Given the description of an element on the screen output the (x, y) to click on. 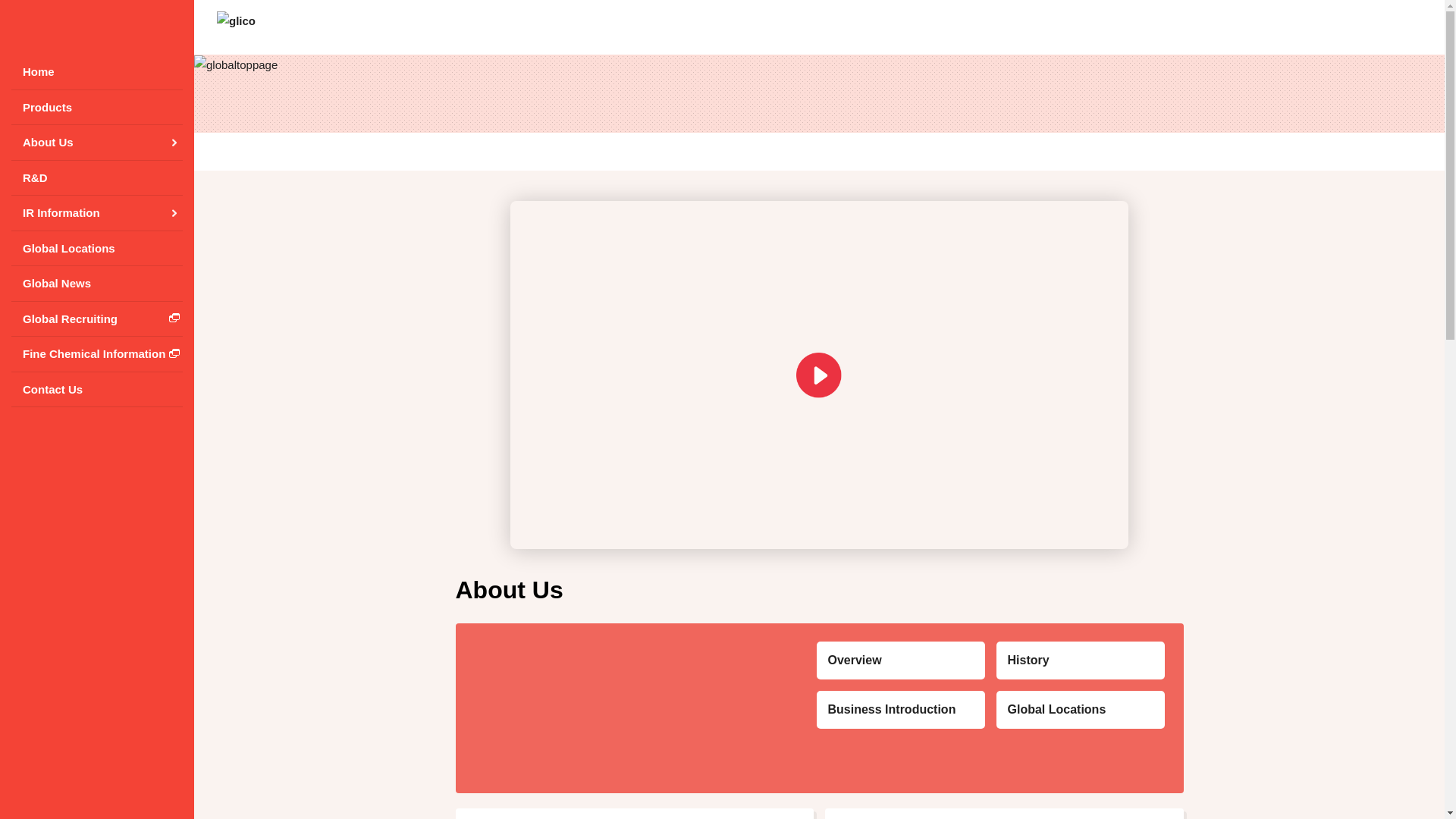
Overview (899, 660)
Products (96, 107)
Fine Chemical Information (96, 354)
IR Information (96, 212)
About Us (96, 142)
menu (27, 27)
Global Locations (96, 248)
Global News (96, 284)
Home (96, 72)
Contact Us (96, 389)
Global Recruiting (96, 319)
